Given the description of an element on the screen output the (x, y) to click on. 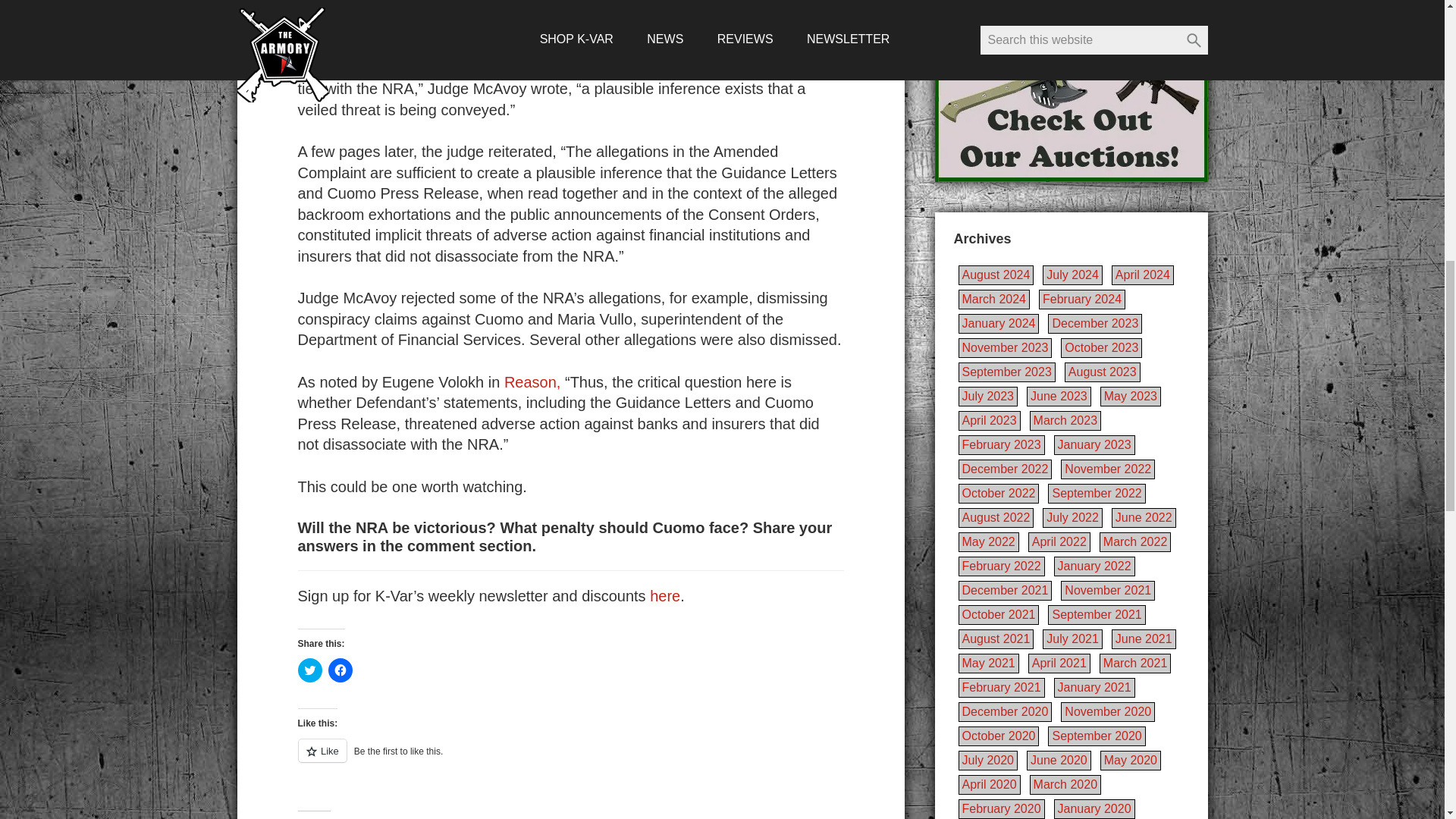
here (664, 596)
Check Out Our Gun Broker Auctions! (1070, 90)
Click to share on Twitter (309, 670)
Like or Reblog (570, 759)
Click to share on Facebook (339, 670)
Reason, (531, 381)
